Given the description of an element on the screen output the (x, y) to click on. 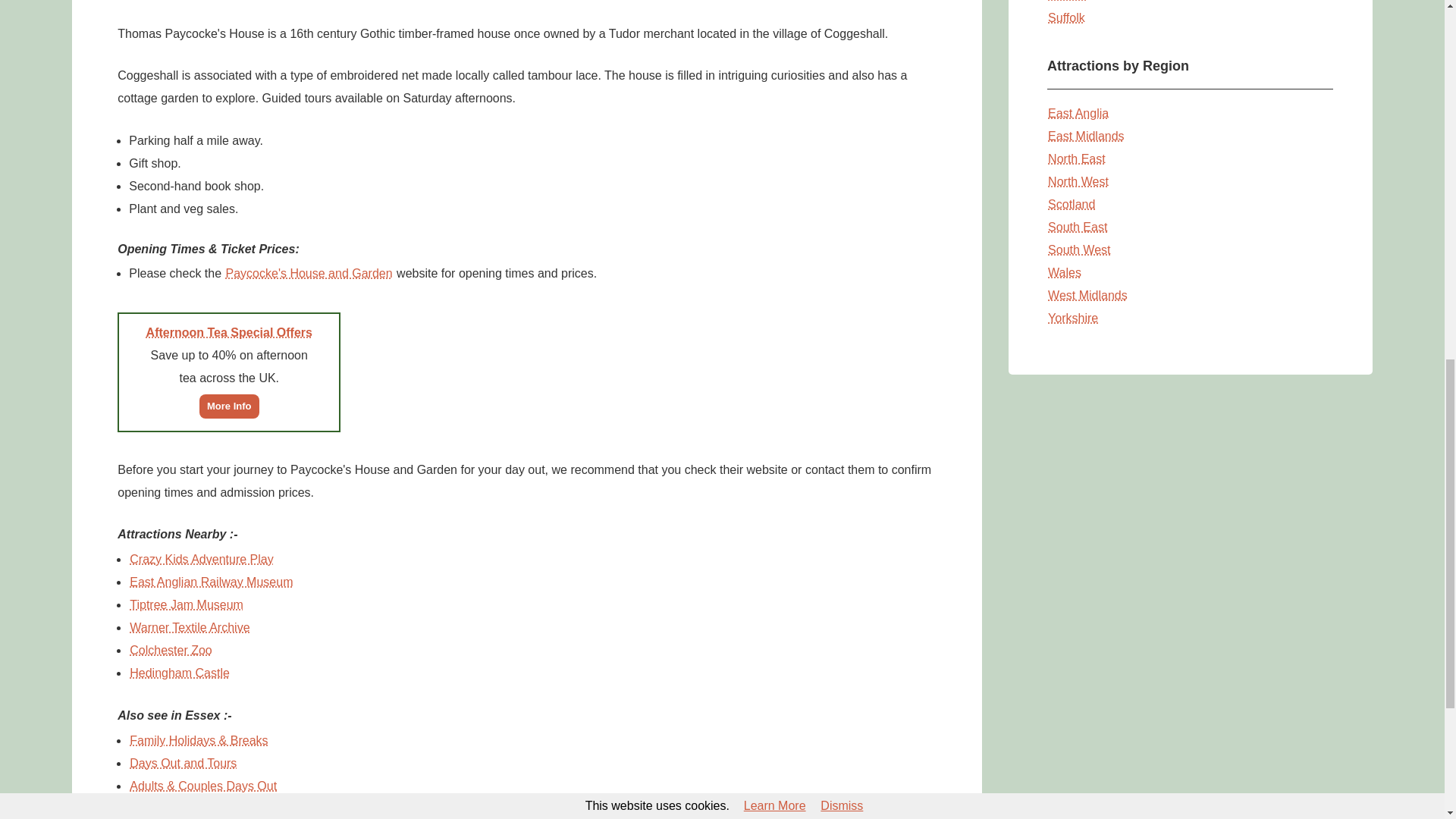
Paycocke's House and Garden (309, 273)
Colchester Zoo (170, 649)
Days Out and Tours (183, 762)
More Info (229, 404)
Hedingham Castle (179, 671)
Tiptree Jam Museum (186, 603)
Afternoon Tea Special Offers (229, 332)
East Anglian Railway Museum (211, 581)
Warner Textile Archive (189, 626)
Crazy Kids Adventure Play (201, 558)
